Given the description of an element on the screen output the (x, y) to click on. 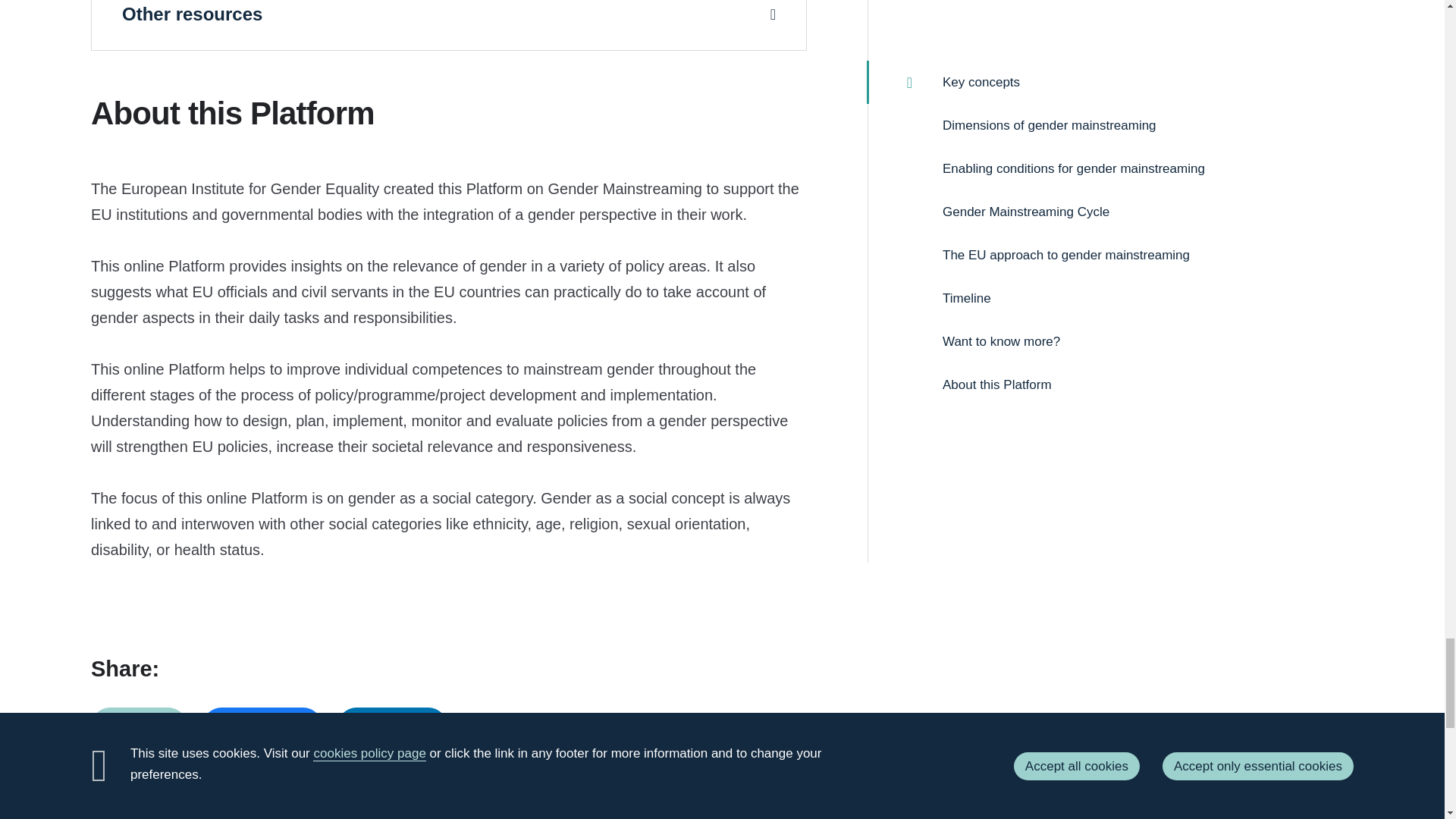
LinkedIn (392, 726)
E-mail (138, 726)
Facebook (261, 726)
